Given the description of an element on the screen output the (x, y) to click on. 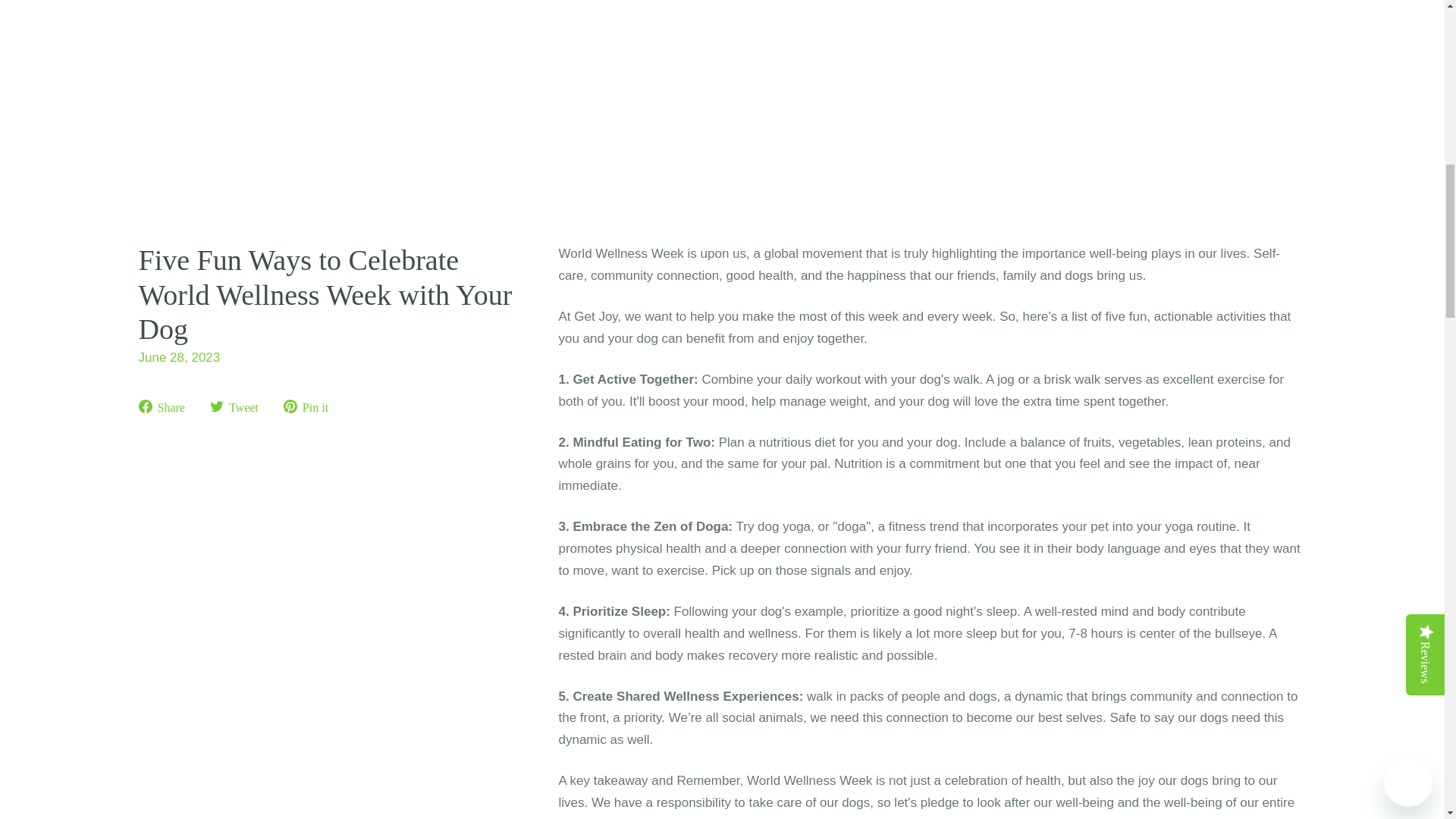
Pin on Pinterest (311, 405)
Tweet on Twitter (239, 405)
Share on Facebook (166, 405)
